Given the description of an element on the screen output the (x, y) to click on. 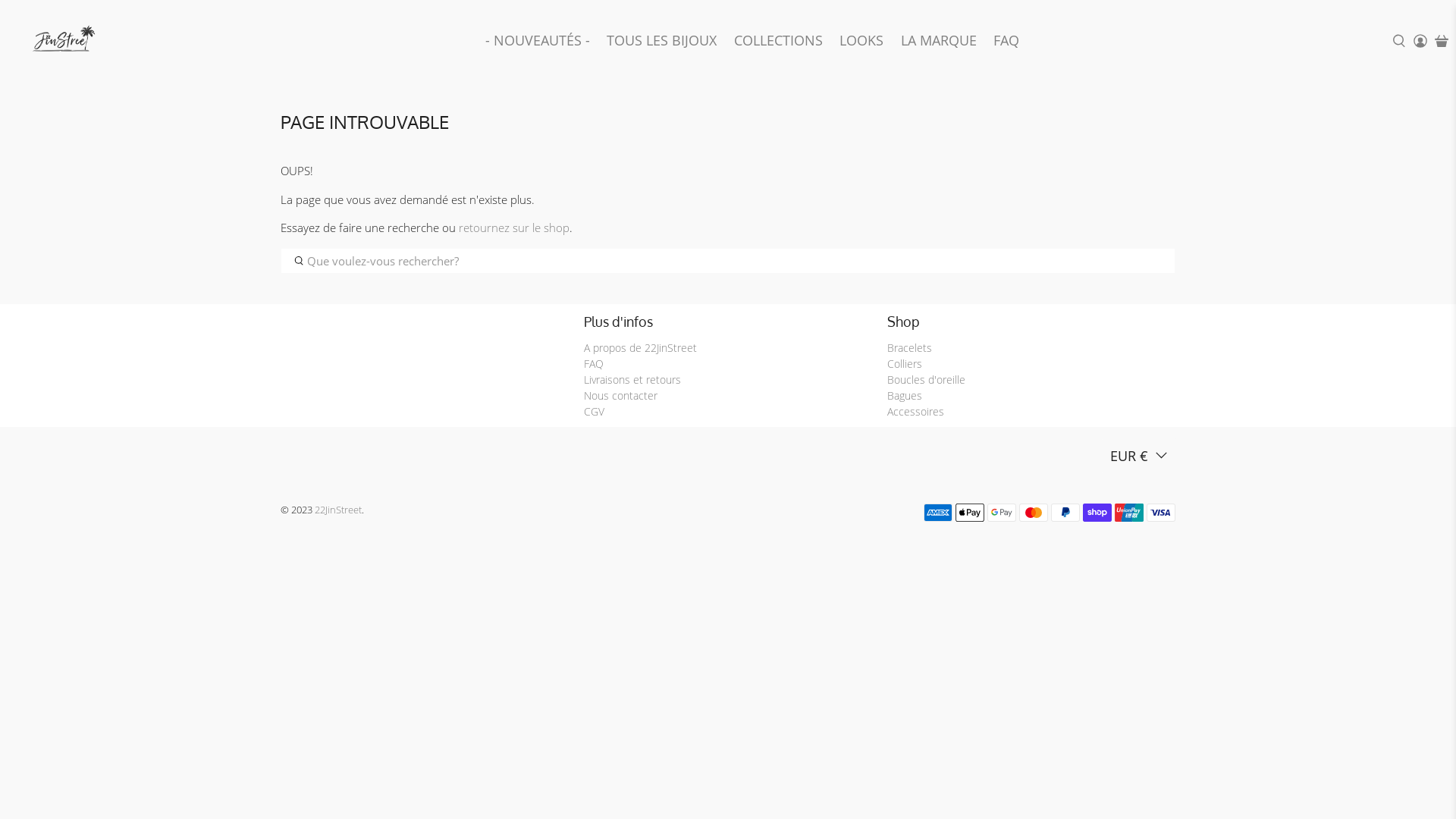
XOF Element type: text (1141, 346)
XAF Element type: text (1141, 279)
Colliers Element type: text (904, 363)
VUV Element type: text (1141, 212)
FAQ Element type: text (1006, 40)
UYU Element type: text (1141, 112)
YER Element type: text (1141, 412)
LA MARQUE Element type: text (938, 40)
TOUS LES BIJOUX Element type: text (661, 40)
VND Element type: text (1141, 179)
XCD Element type: text (1141, 312)
Nous contacter Element type: text (620, 395)
XPF Element type: text (1141, 379)
COLLECTIONS Element type: text (777, 40)
Livraisons et retours Element type: text (631, 379)
Boucles d'oreille Element type: text (926, 379)
A propos de 22JinStreet Element type: text (639, 347)
WST Element type: text (1141, 246)
Bracelets Element type: text (909, 347)
22JinStreet Element type: hover (60, 40)
USD Element type: text (1141, 79)
22JinStreet Element type: text (337, 509)
LOOKS Element type: text (861, 40)
Bagues Element type: text (904, 395)
FAQ Element type: text (593, 363)
retournez sur le shop Element type: text (513, 227)
Accessoires Element type: text (915, 411)
CGV Element type: text (593, 411)
UZS Element type: text (1141, 146)
UGX Element type: text (1141, 45)
